Given the description of an element on the screen output the (x, y) to click on. 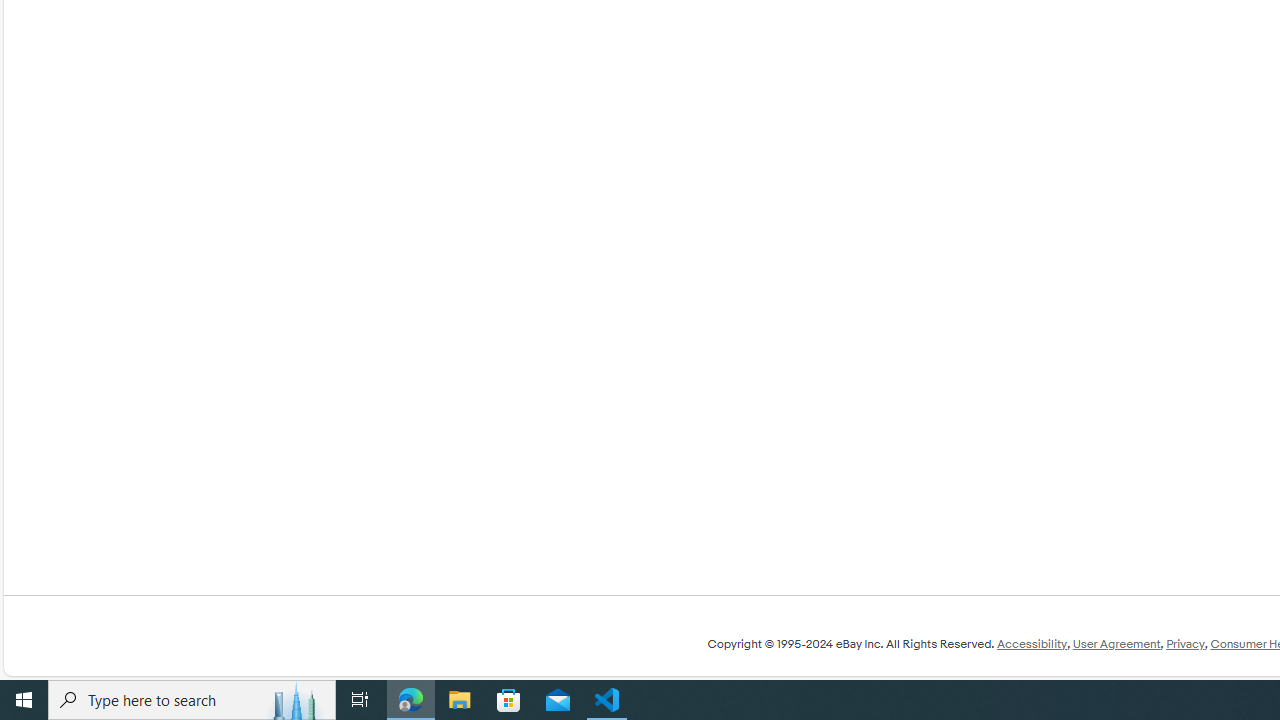
Privacy (1185, 644)
Accessibility (1031, 644)
User Agreement (1116, 644)
